Given the description of an element on the screen output the (x, y) to click on. 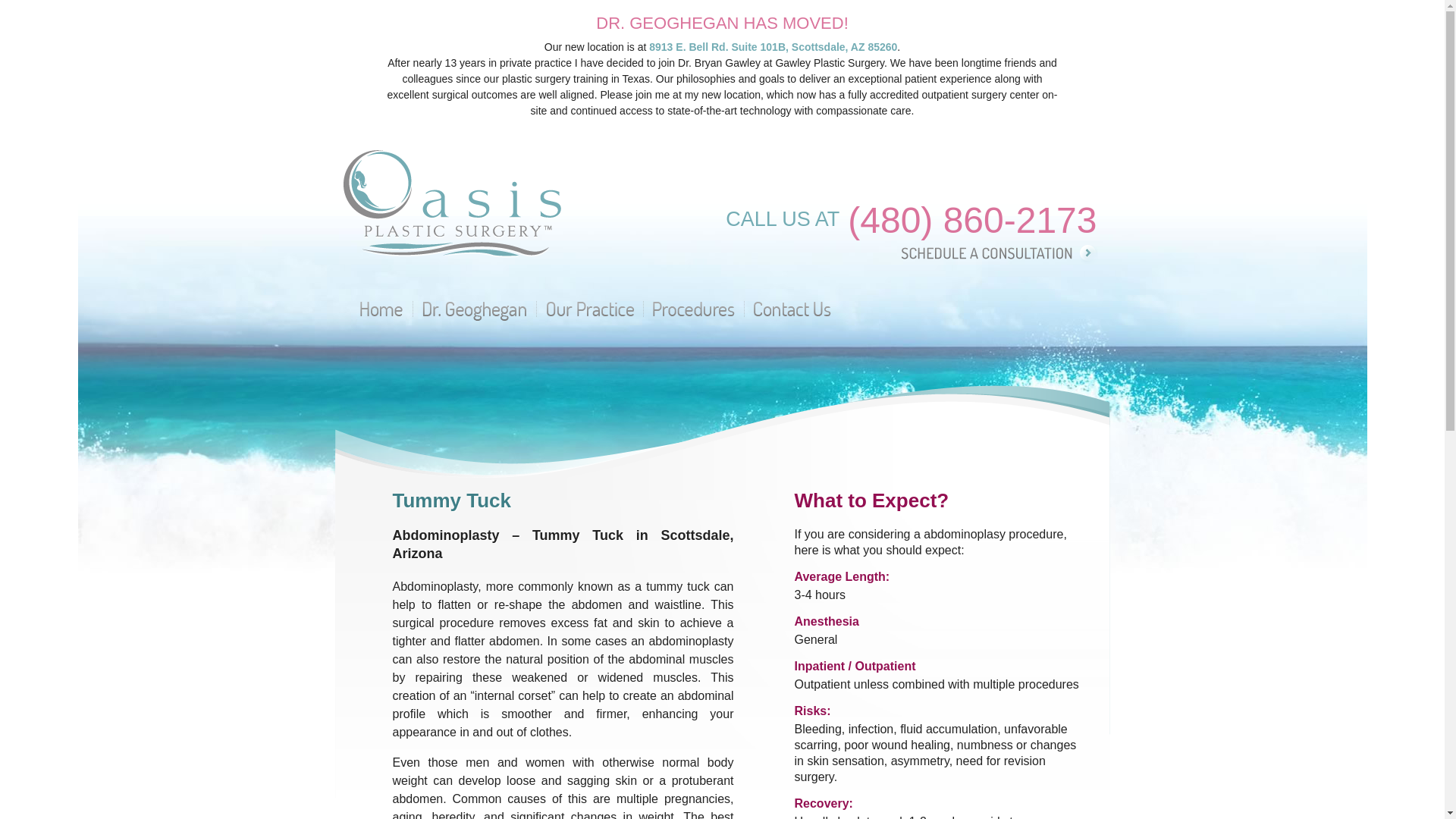
Home (389, 309)
Procedures (701, 309)
Schedule a Consultation (1006, 253)
Dr Geoghegan (480, 309)
8913 E. Bell Rd. Suite 101B, Scottsdale, AZ 85260 (772, 46)
Contact Us (799, 309)
Our Practice (597, 309)
